Given the description of an element on the screen output the (x, y) to click on. 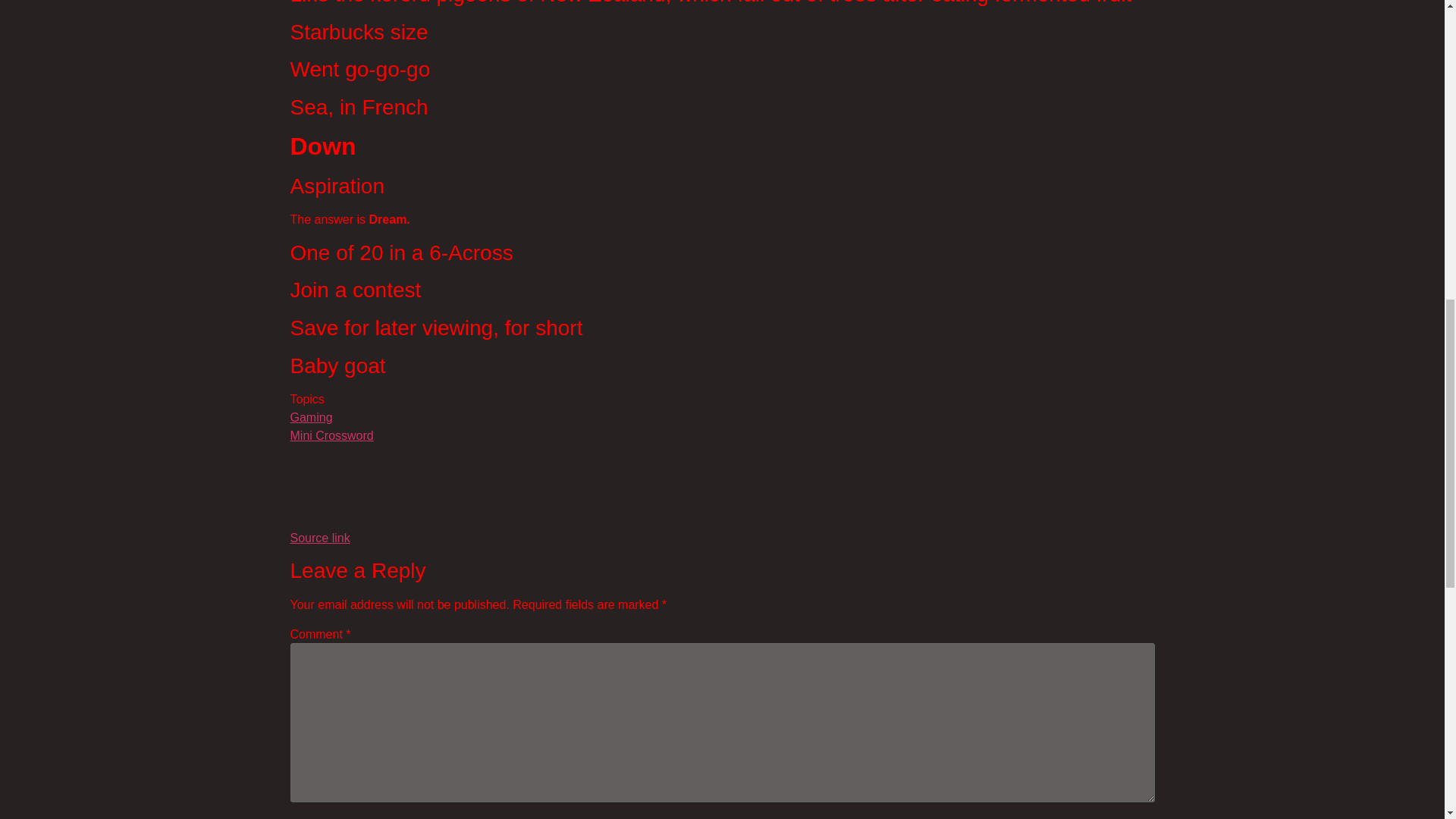
Mini Crossword (330, 435)
Gaming (310, 417)
Source link (319, 537)
